Given the description of an element on the screen output the (x, y) to click on. 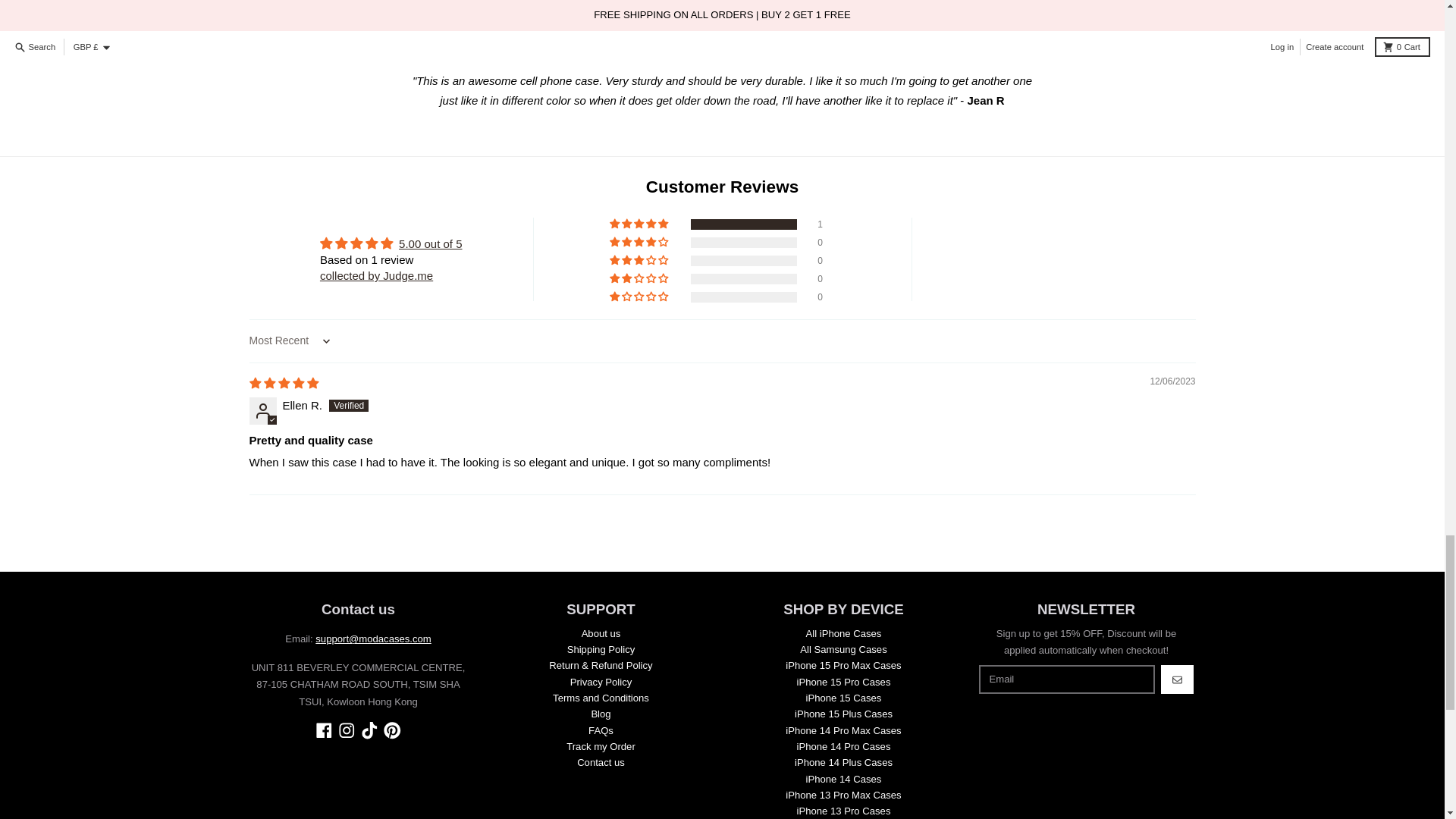
TikTok - Modacases (369, 730)
Pinterest - Modacases (392, 730)
Instagram - Modacases (346, 730)
Facebook - Modacases (324, 730)
